Given the description of an element on the screen output the (x, y) to click on. 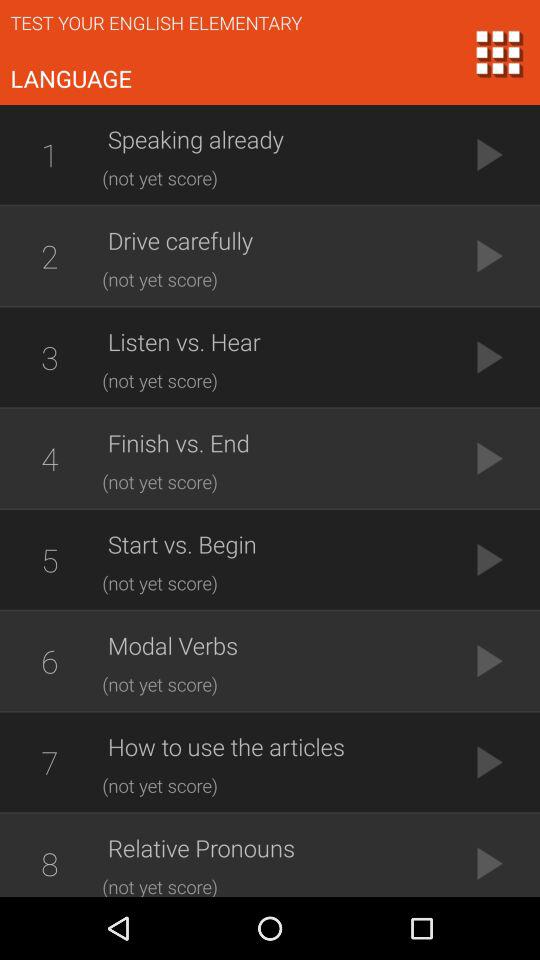
click the play button beside the model verbs text (489, 660)
select the button which is next to the listen vs hear (489, 356)
